Given the description of an element on the screen output the (x, y) to click on. 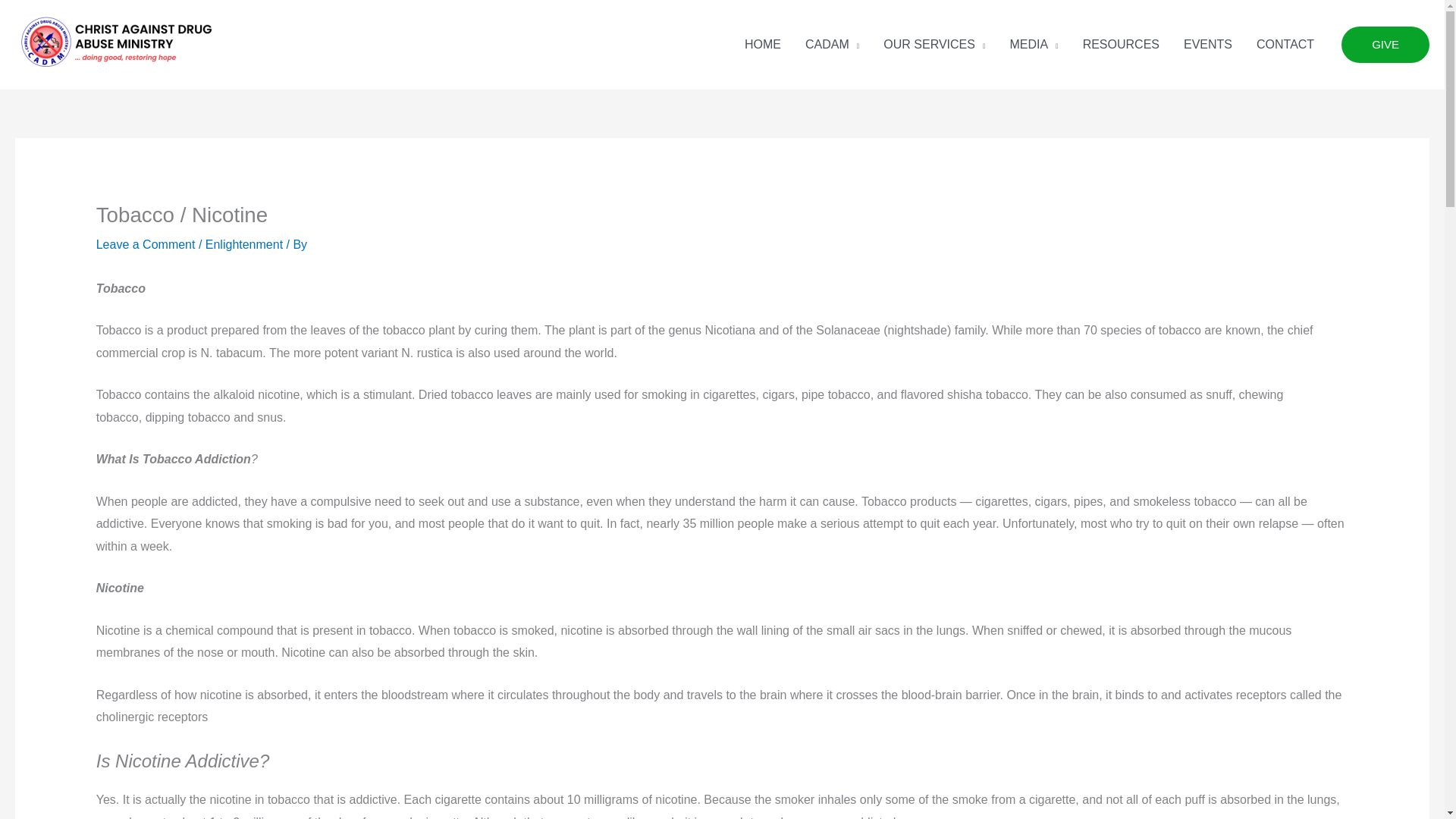
CADAM (831, 44)
GIVE (1384, 44)
HOME (762, 44)
OUR SERVICES (933, 44)
MEDIA (1033, 44)
CONTACT (1285, 44)
EVENTS (1208, 44)
RESOURCES (1121, 44)
